Given the description of an element on the screen output the (x, y) to click on. 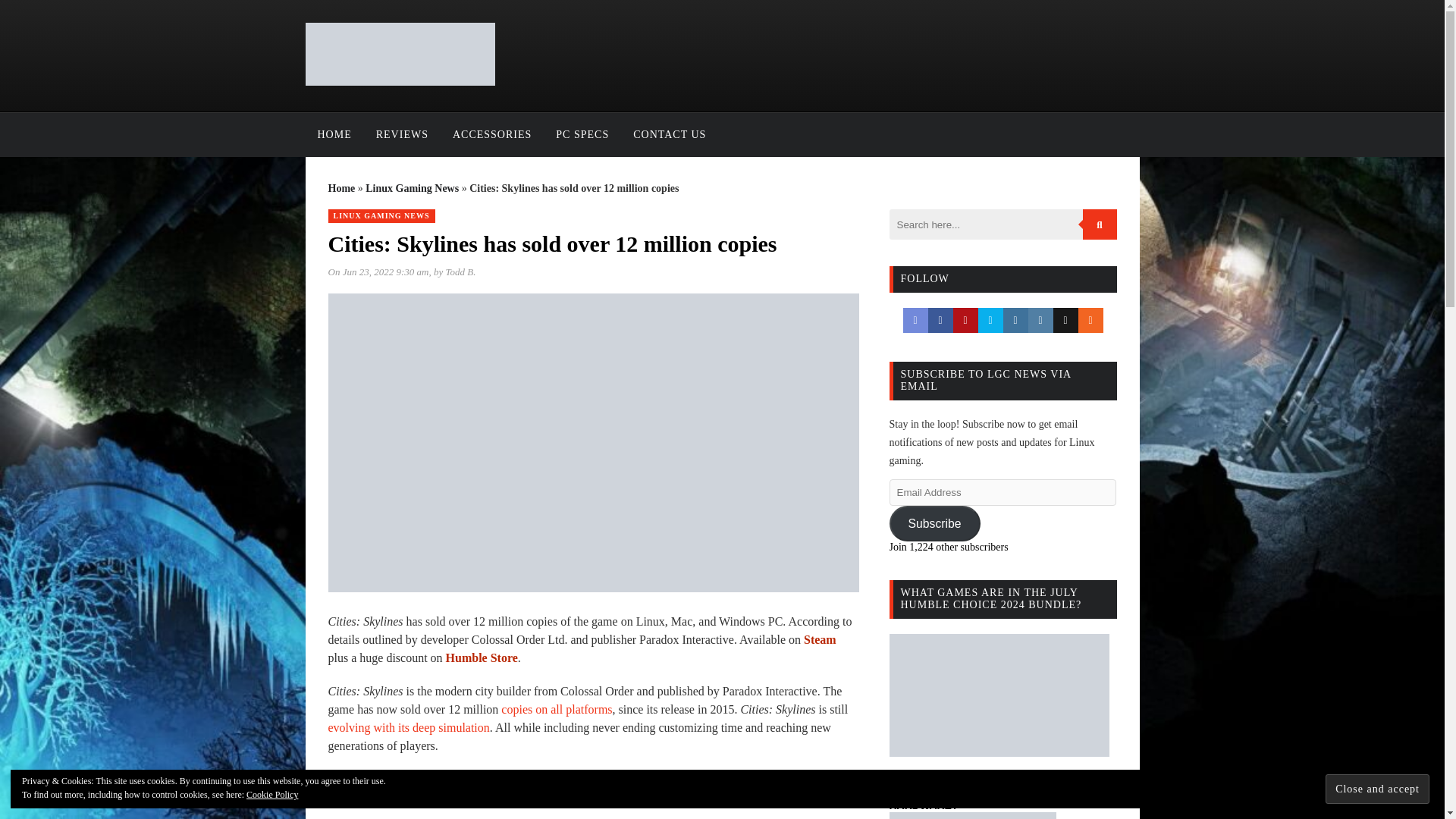
Todd B. (460, 271)
Cookie Policy (272, 794)
CONTACT US (669, 135)
copies on all platforms (555, 708)
Humble Store (481, 657)
HOME (333, 135)
PC SPECS (582, 135)
What games are in the July Humble Choice 2024 bundle? (998, 694)
On Jun 23, 2022 9:30 am (377, 271)
LINUX GAMING NEWS (380, 215)
Close and accept (1376, 788)
Close and accept (1376, 788)
Linux Gaming News (411, 188)
Home (341, 188)
